Given the description of an element on the screen output the (x, y) to click on. 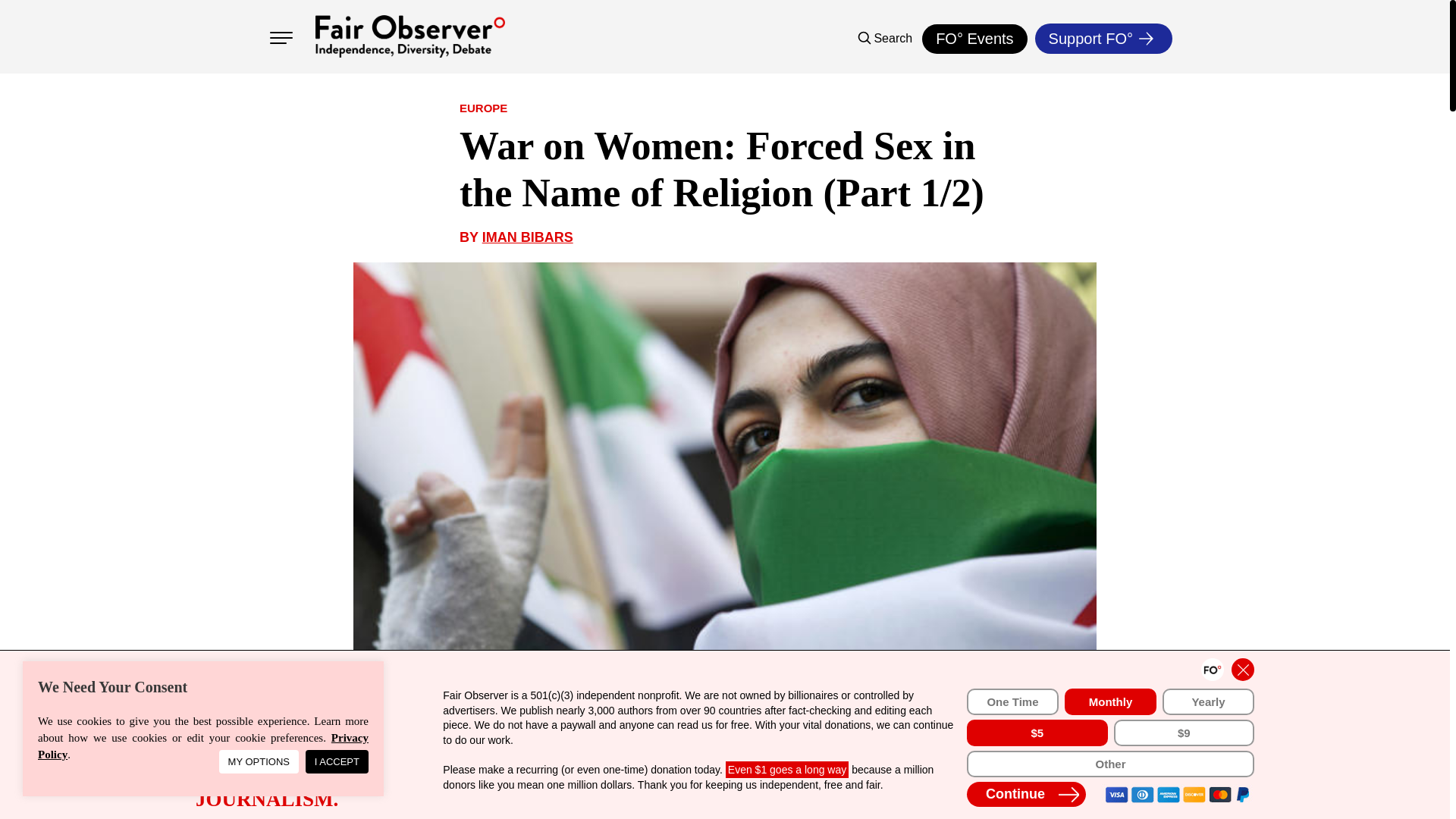
Fair Observer Logo (410, 36)
